Given the description of an element on the screen output the (x, y) to click on. 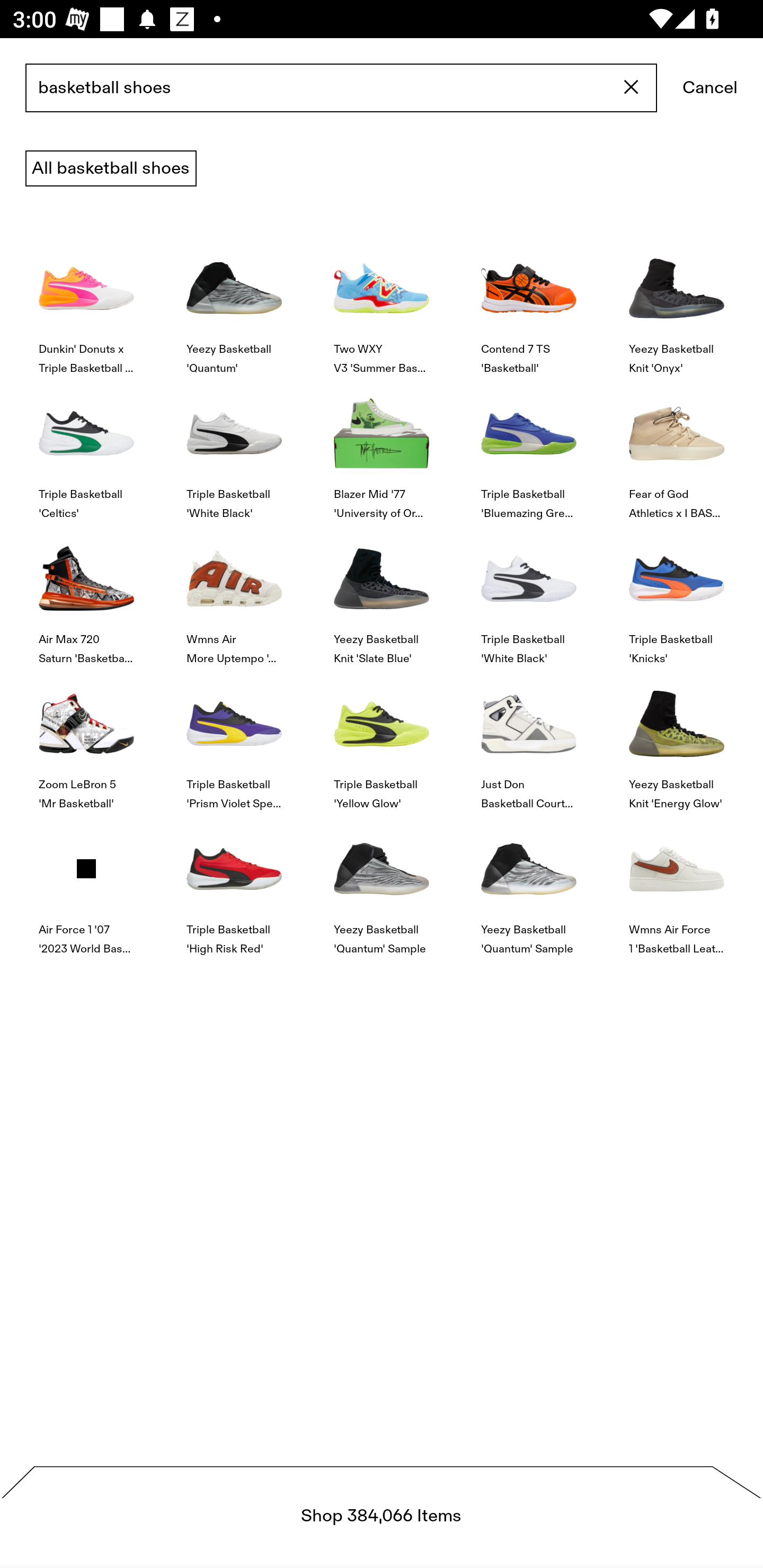
basketball shoes (340, 88)
Cancel (709, 88)
Clear text (631, 87)
All basketball shoes (110, 168)
Yeezy Basketball 'Quantum' (233, 303)
Two WXY V3 'Summer Basketball' (381, 303)
Contend 7 TS 'Basketball' (528, 303)
Yeezy Basketball Knit 'Onyx' (676, 303)
Triple Basketball 'Celtics' (86, 448)
Triple Basketball 'White Black' (233, 448)
Triple Basketball 'Bluemazing Green Glare' (528, 448)
Fear of God Athletics x I BASKETBALL 'Clay' (676, 448)
Air Max 720 Saturn 'Basketball Manga' (86, 593)
Wmns Air More Uptempo 'Basketball Leather' (233, 593)
Yeezy Basketball Knit 'Slate Blue' (381, 593)
Triple Basketball 'White Black' (528, 593)
Triple Basketball 'Knicks' (676, 593)
Zoom LeBron 5 'Mr Basketball' (86, 739)
Triple Basketball 'Prism Violet Spectra Yellow' (233, 739)
Triple Basketball 'Yellow Glow' (381, 739)
Just Don Basketball Courtside Hi 'White Grey' (528, 739)
Yeezy Basketball Knit 'Energy Glow' (676, 739)
Air Force 1 '07 '2023 World Basketball Festival' (86, 884)
Triple Basketball 'High Risk Red' (233, 884)
Yeezy Basketball 'Quantum' Sample (381, 884)
Yeezy Basketball 'Quantum' Sample (528, 884)
Wmns Air Force 1 'Basketball Leather' (676, 884)
Shop 384,066 Items (381, 1517)
